Given the description of an element on the screen output the (x, y) to click on. 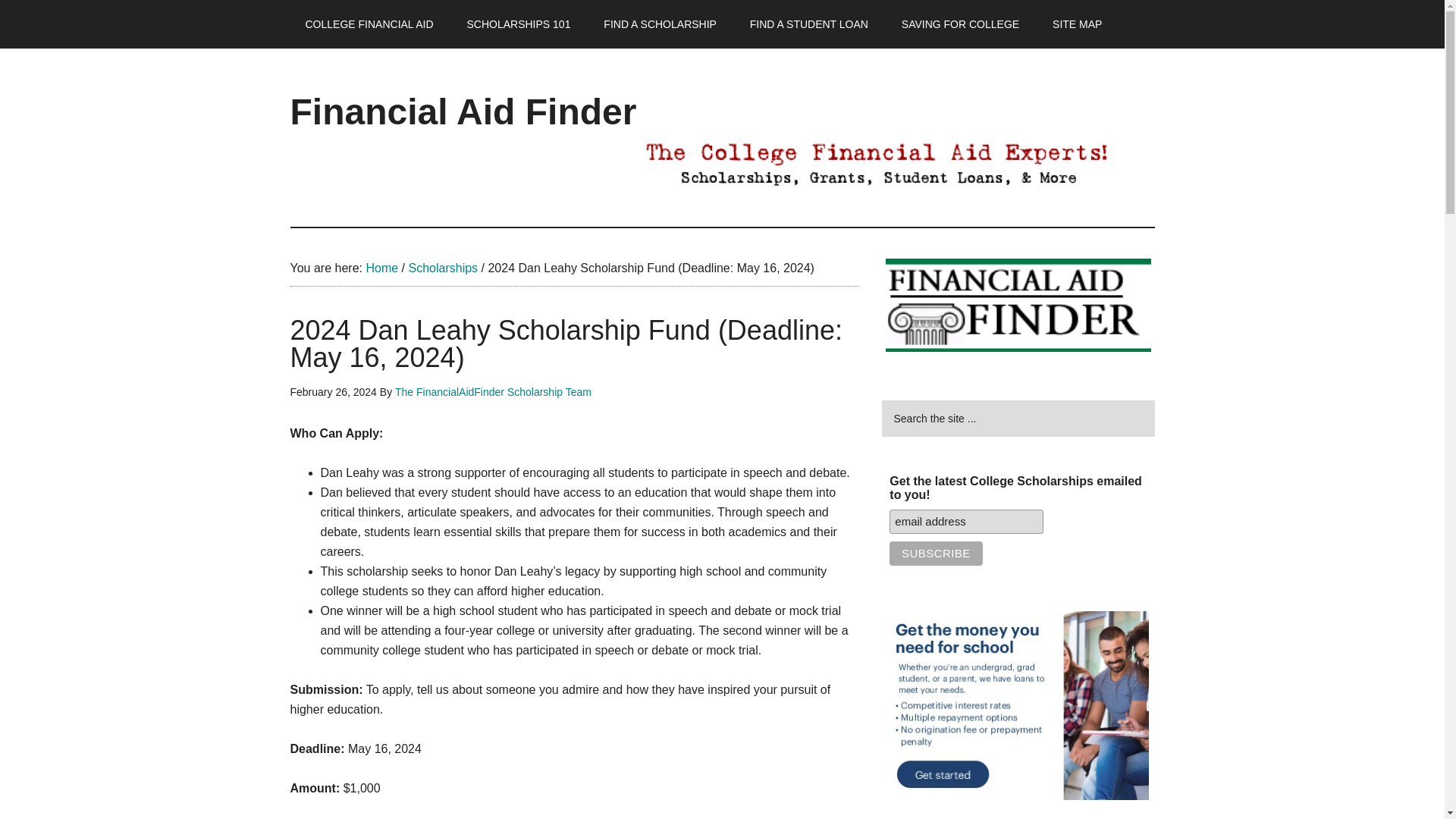
FIND A STUDENT LOAN (809, 24)
COLLEGE FINANCIAL AID (368, 24)
Subscribe (935, 553)
FIND A SCHOLARSHIP (660, 24)
SCHOLARSHIPS 101 (518, 24)
